Given the description of an element on the screen output the (x, y) to click on. 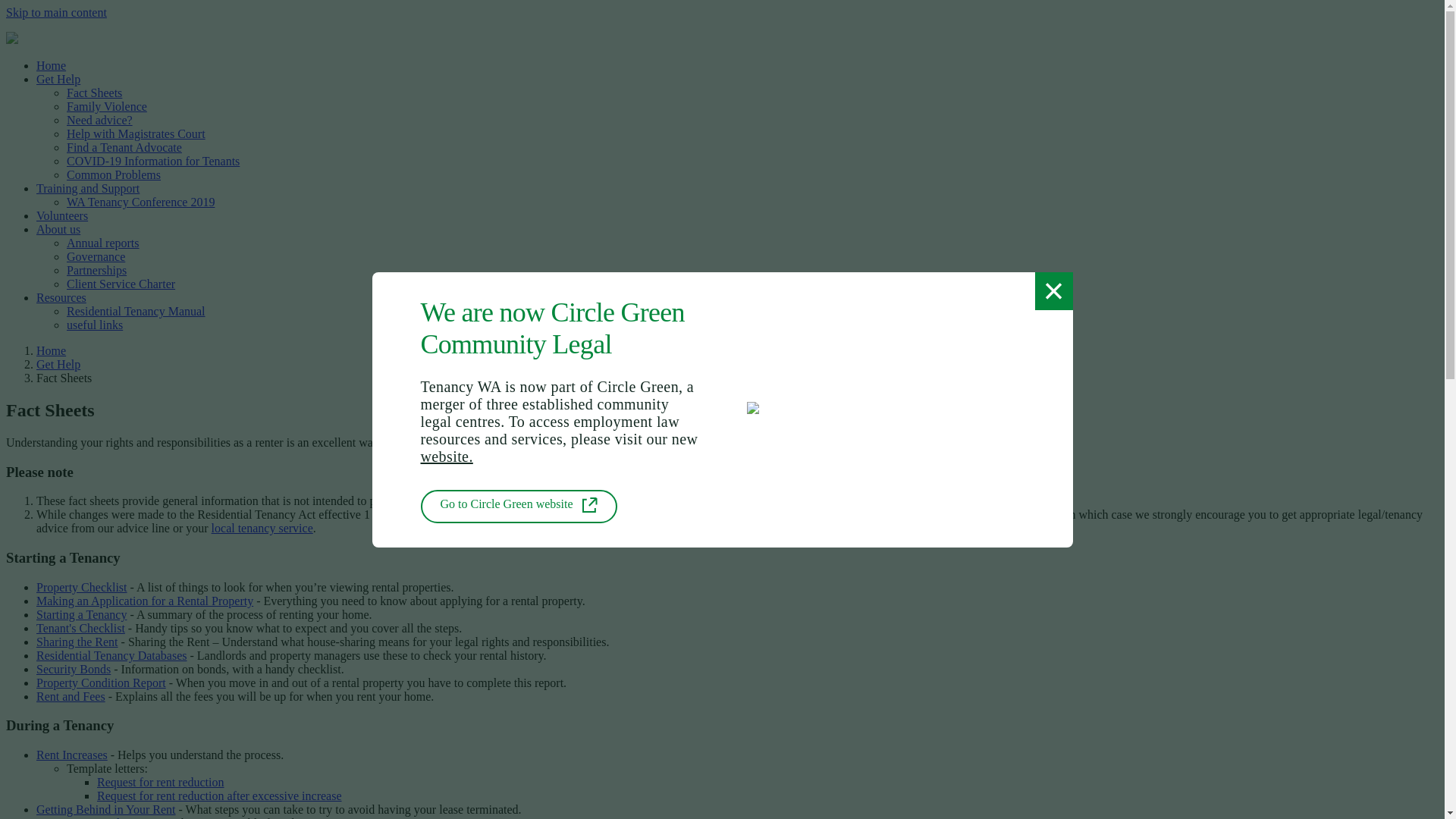
Volunteers Element type: text (61, 215)
Resources Element type: text (61, 297)
Tenant's Checklist Element type: text (80, 627)
About us Element type: text (58, 228)
Security Bonds Element type: text (73, 668)
local tenancy service Element type: text (262, 527)
Request for rent reduction Element type: text (160, 781)
Starting a Tenancy Element type: text (81, 614)
Home Element type: text (50, 65)
Home Element type: text (50, 350)
Request for rent reduction after excessive increase Element type: text (219, 795)
Property Condition Report Element type: text (101, 682)
COVID-19 Information for Tenants Element type: text (152, 160)
Property Checklist Element type: text (81, 586)
Get Help Element type: text (58, 78)
website. Element type: text (446, 455)
Get Help Element type: text (58, 363)
Go to Circle Green website Element type: text (518, 506)
Common Problems Element type: text (113, 174)
Rent Increases Element type: text (71, 754)
Annual reports Element type: text (102, 242)
useful links Element type: text (94, 324)
Sharing the Rent Element type: text (77, 641)
Rent and Fees Element type: text (70, 696)
Governance Element type: text (95, 256)
Residential Tenancy Manual Element type: text (135, 310)
Family Violence Element type: text (106, 106)
Skip to main content Element type: text (56, 12)
Help with Magistrates Court Element type: text (135, 133)
Making an Application for a Rental Property Element type: text (144, 600)
Getting Behind in Your Rent Element type: text (105, 809)
Fact Sheets Element type: text (94, 92)
Need advice? Element type: text (99, 119)
Client Service Charter Element type: text (120, 283)
WA Tenancy Conference 2019 Element type: text (140, 201)
Residential Tenancy Databases Element type: text (111, 655)
Find a Tenant Advocate Element type: text (124, 147)
Training and Support Element type: text (87, 188)
Partnerships Element type: text (96, 269)
